Given the description of an element on the screen output the (x, y) to click on. 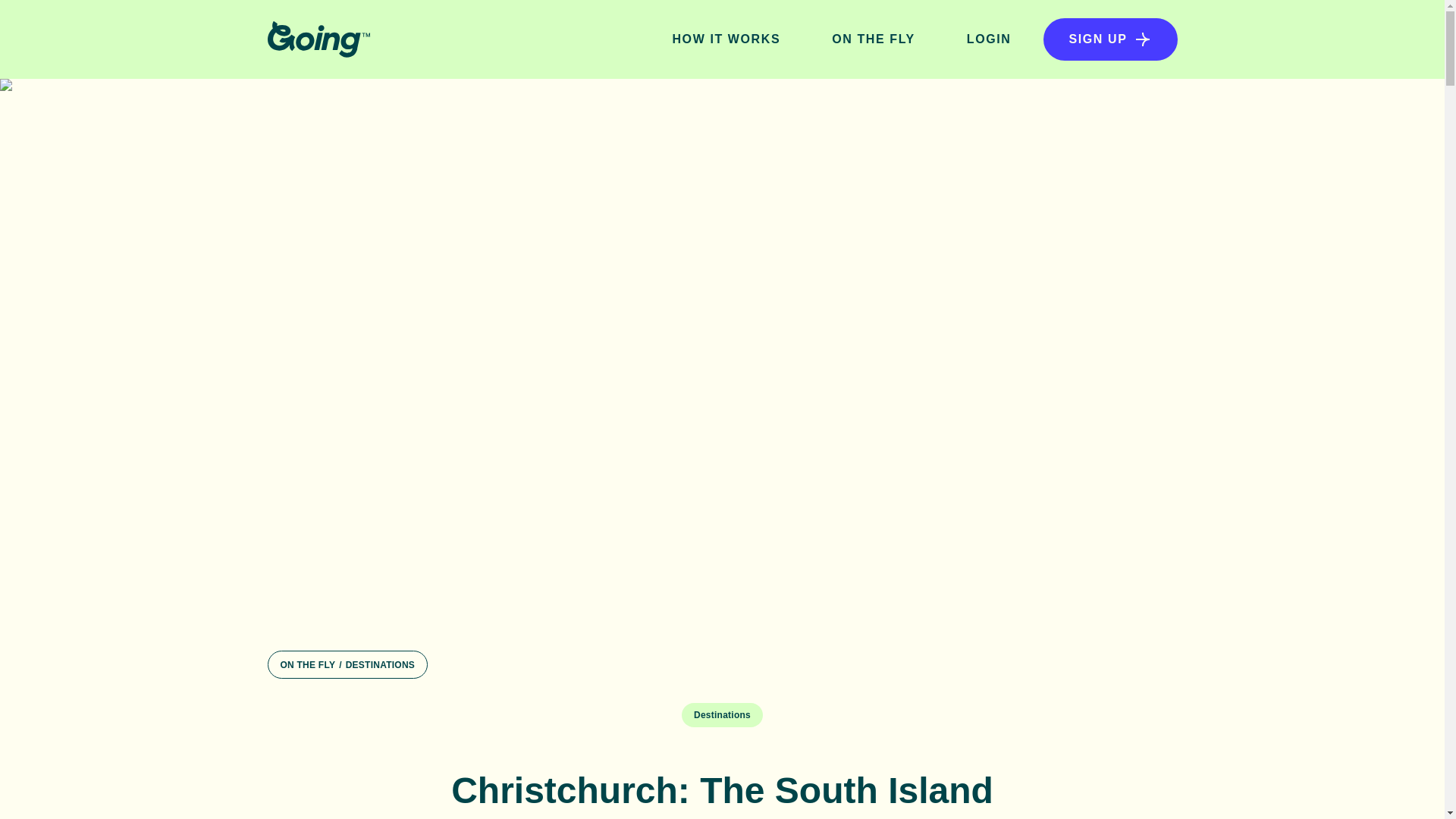
ON THE FLY (873, 39)
DESTINATIONS (380, 665)
ON THE FLY (308, 665)
LOGIN (988, 39)
SIGN UP (1110, 39)
HOW IT WORKS (725, 39)
